Given the description of an element on the screen output the (x, y) to click on. 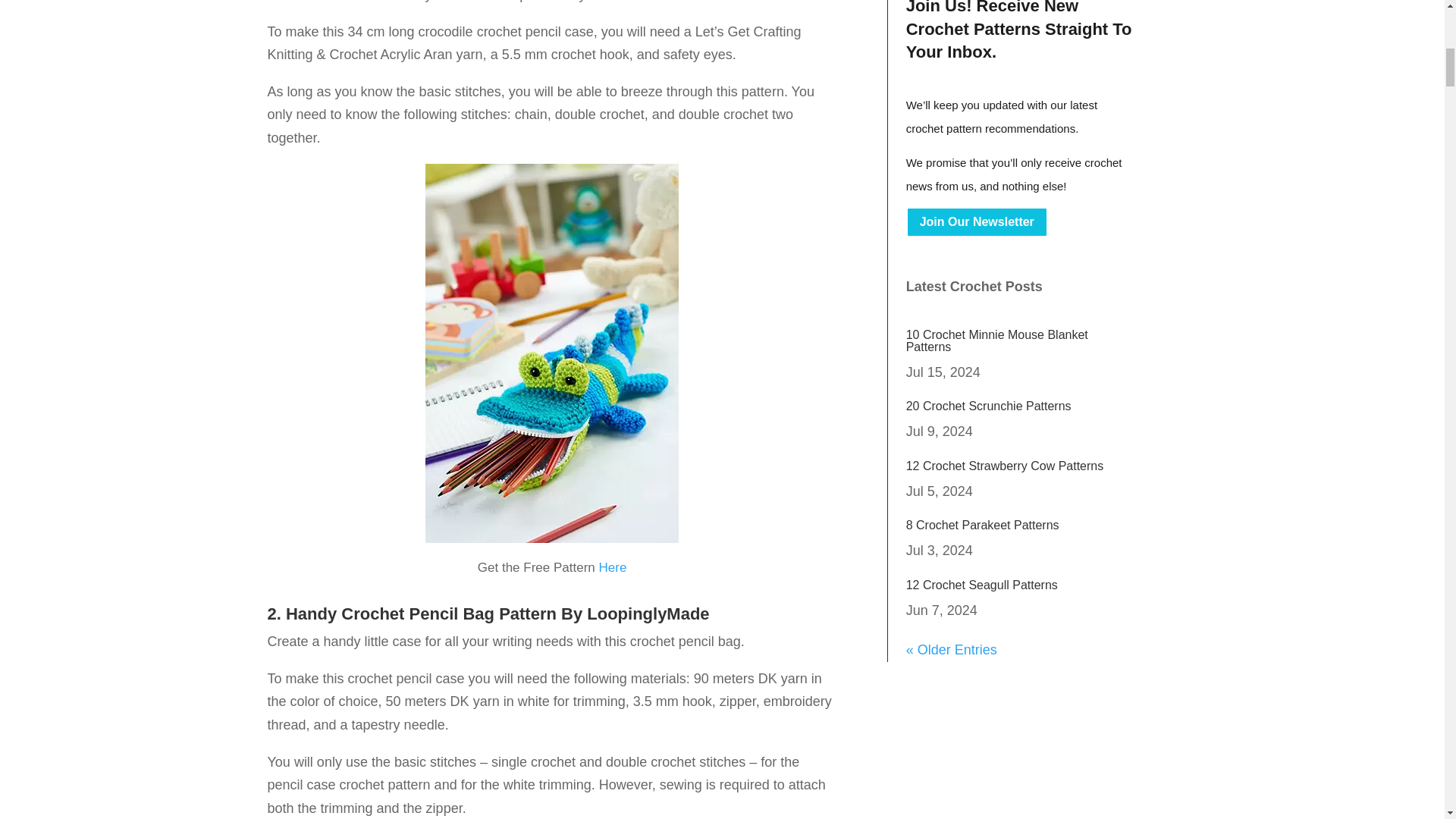
Here (612, 567)
21 Fun Back to School Crochet Pencil Case Patterns (551, 352)
